Given the description of an element on the screen output the (x, y) to click on. 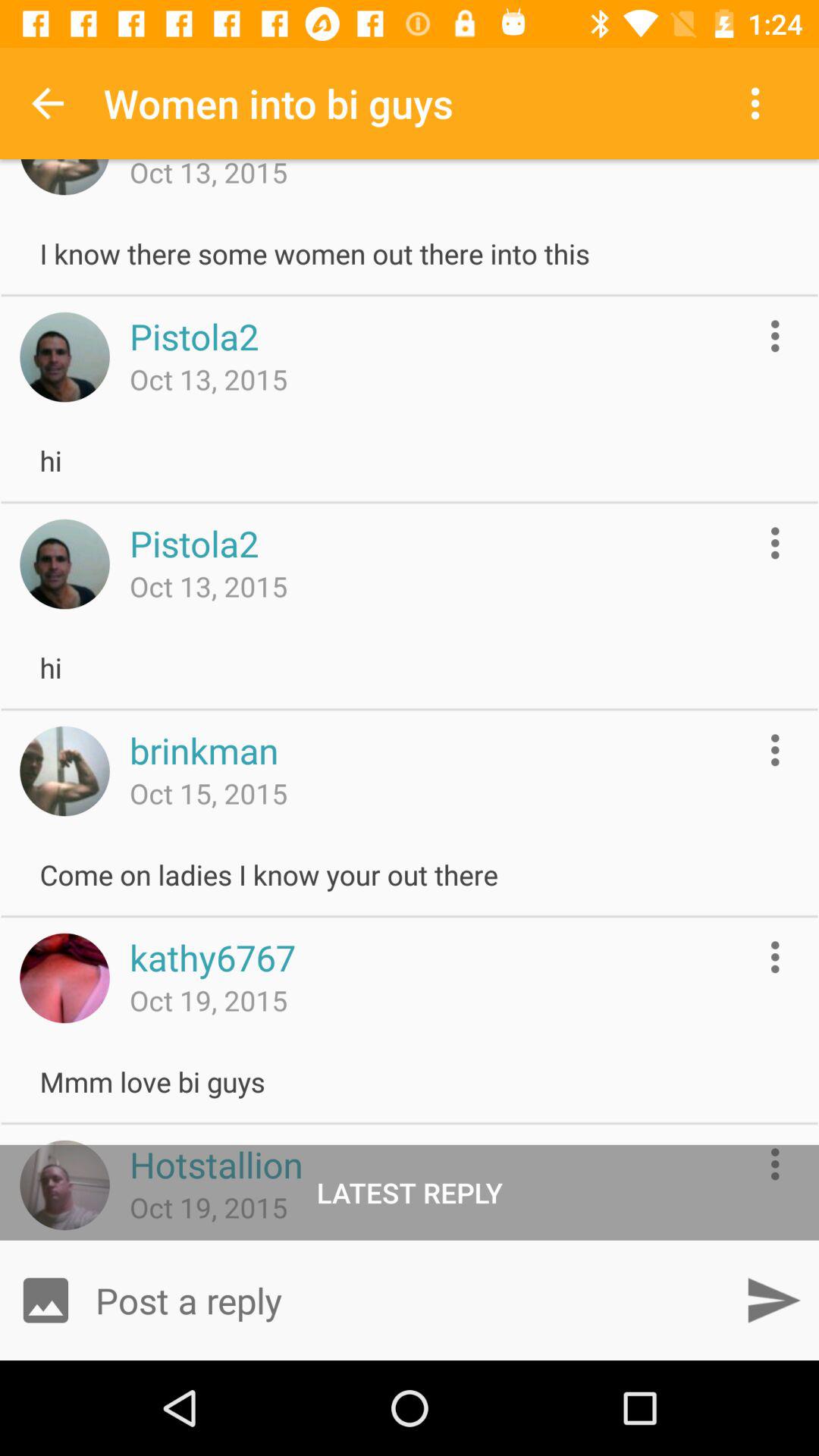
select icon above oct 19, 2015 item (212, 957)
